Given the description of an element on the screen output the (x, y) to click on. 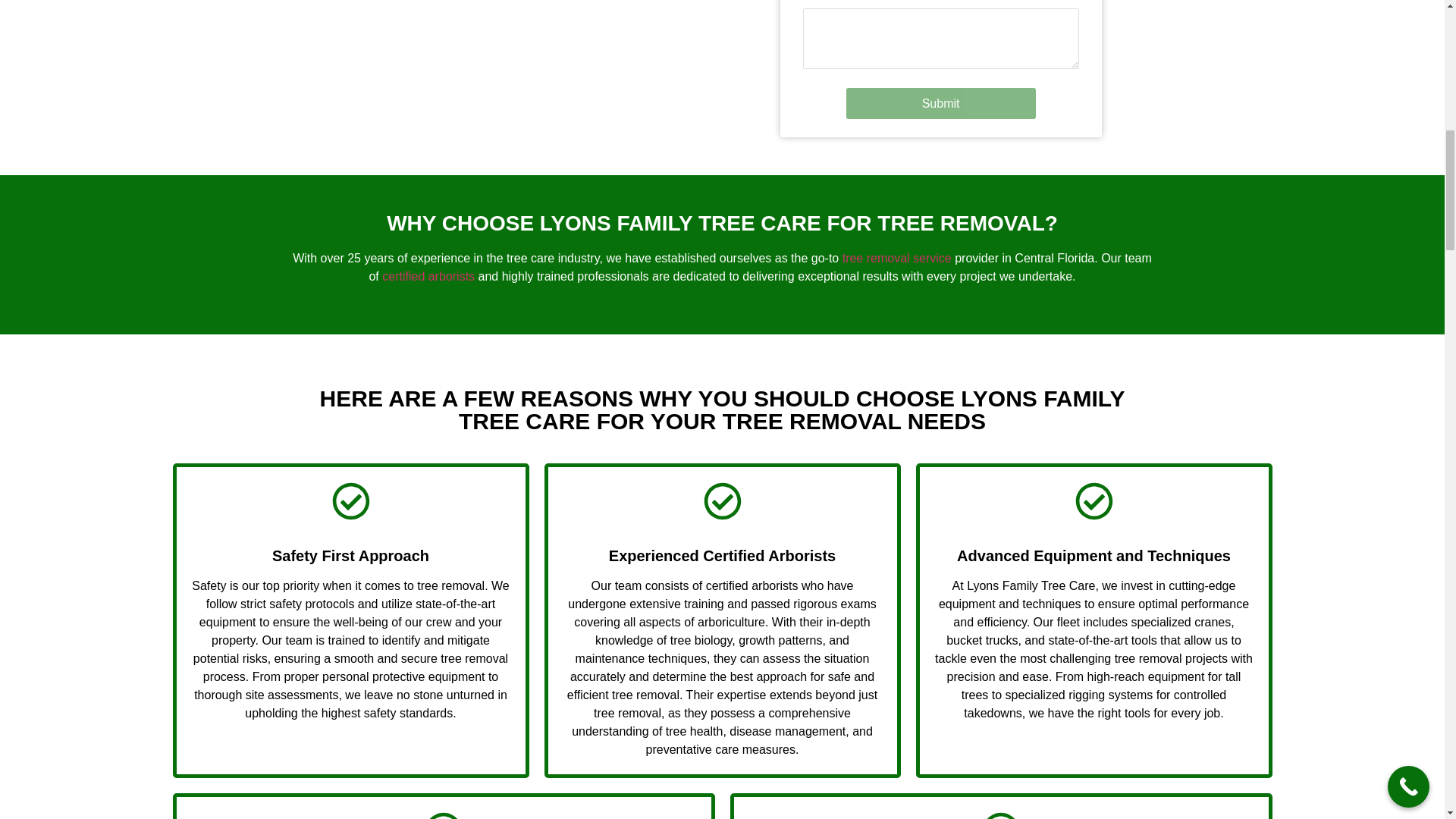
certified arborists (427, 276)
Submit (940, 102)
tree removal service (897, 257)
